Given the description of an element on the screen output the (x, y) to click on. 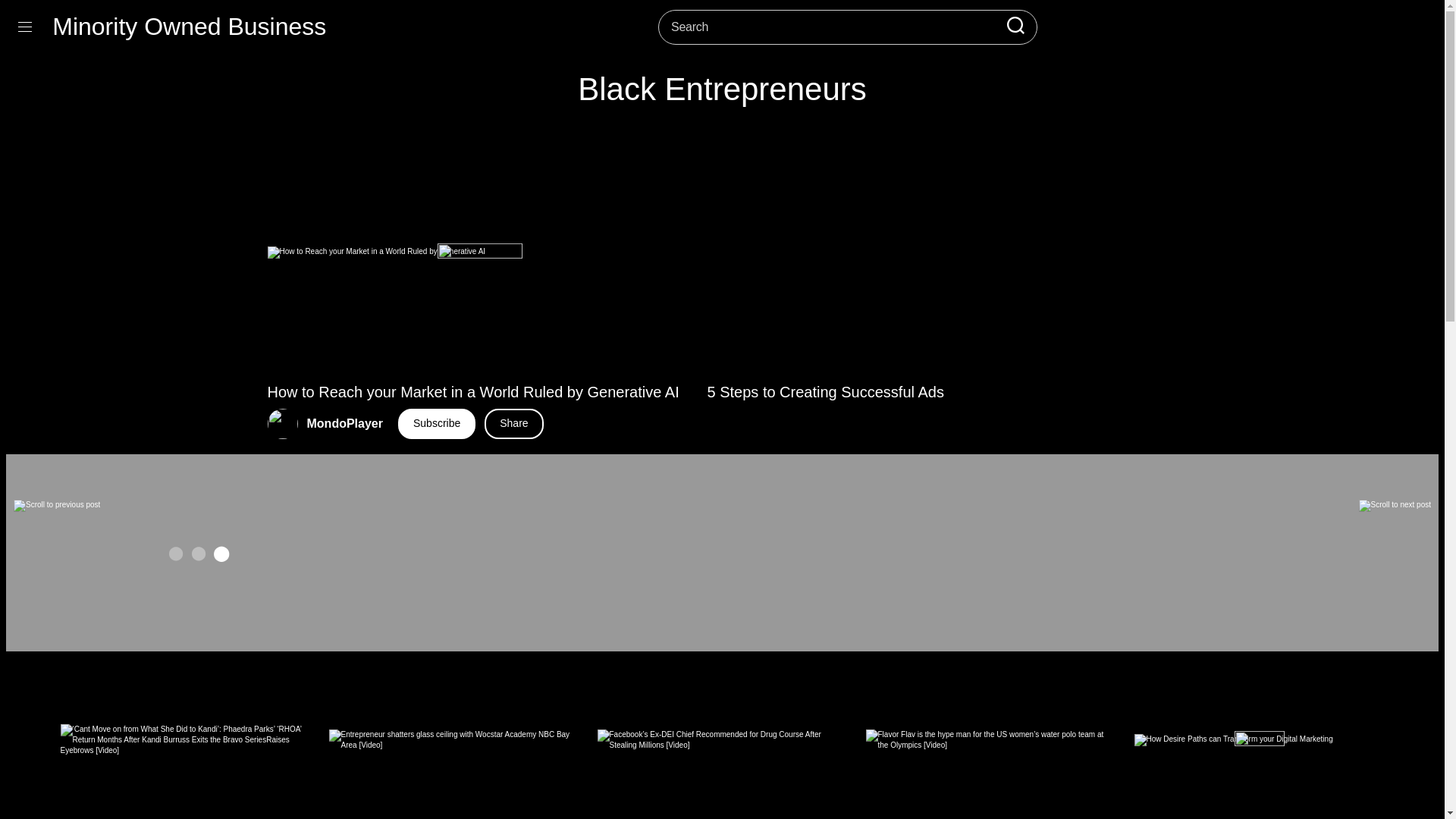
Minority Owned Business (189, 26)
Minority Owned Business (189, 26)
